Given the description of an element on the screen output the (x, y) to click on. 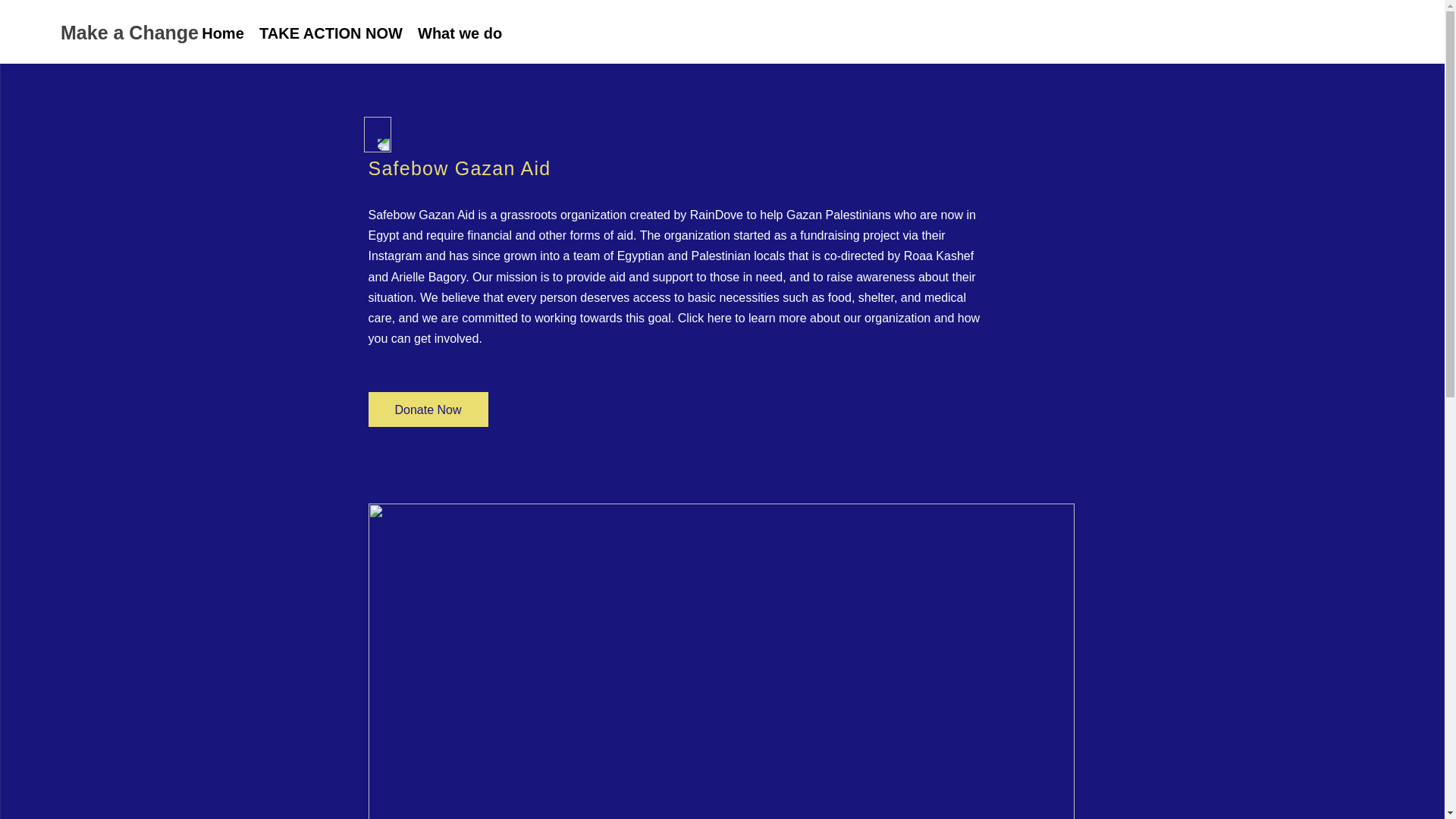
What we do (459, 33)
Donate Now (427, 409)
Make a Change (129, 32)
Home (222, 33)
TAKE ACTION NOW (330, 33)
